Given the description of an element on the screen output the (x, y) to click on. 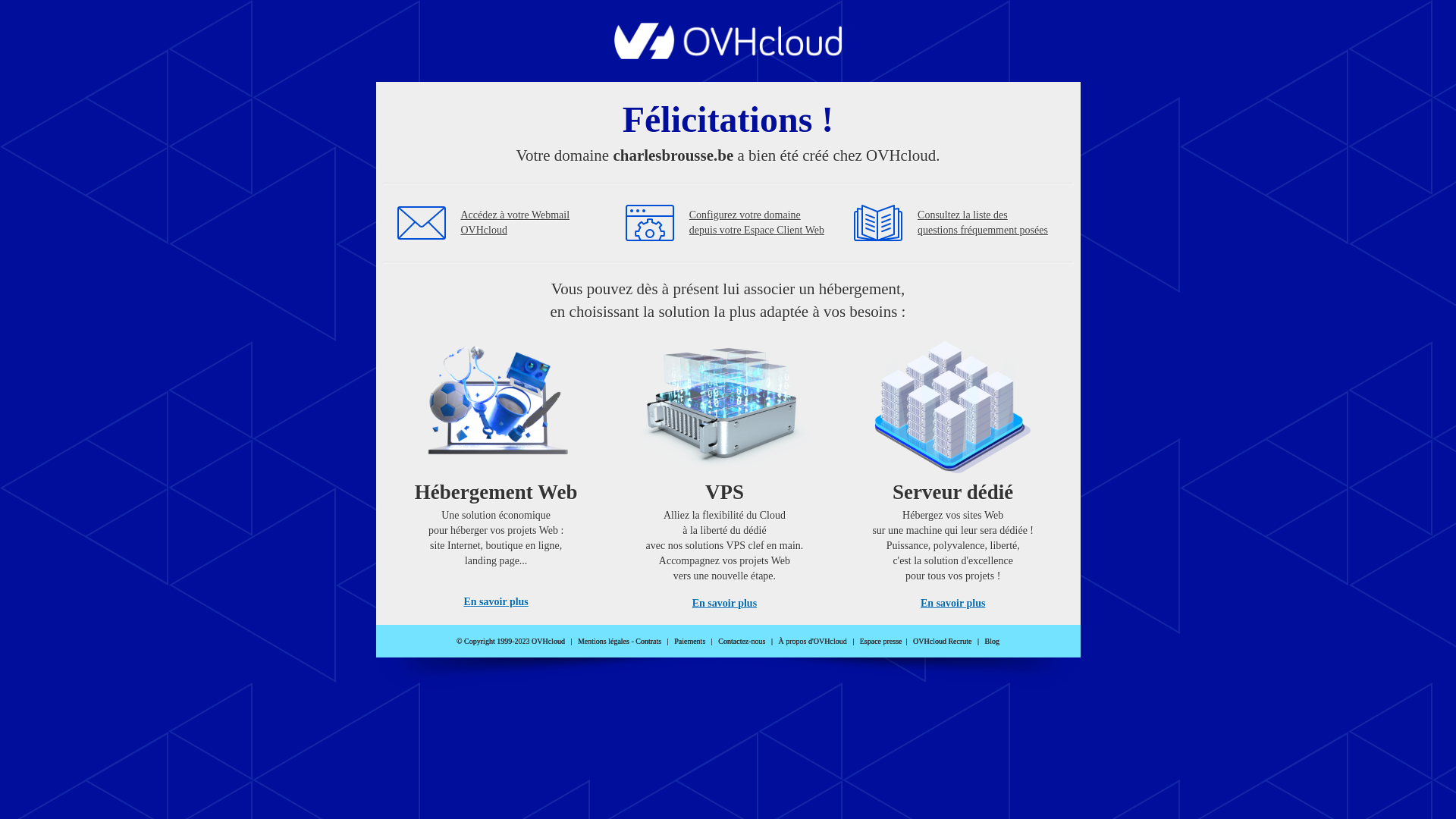
VPS Element type: hover (724, 469)
Blog Element type: text (992, 641)
En savoir plus Element type: text (724, 602)
En savoir plus Element type: text (952, 602)
En savoir plus Element type: text (495, 601)
Espace presse Element type: text (880, 641)
OVHcloud Recrute Element type: text (942, 641)
OVHcloud Element type: hover (727, 54)
Contactez-nous Element type: text (741, 641)
Paiements Element type: text (689, 641)
Configurez votre domaine
depuis votre Espace Client Web Element type: text (756, 222)
